Given the description of an element on the screen output the (x, y) to click on. 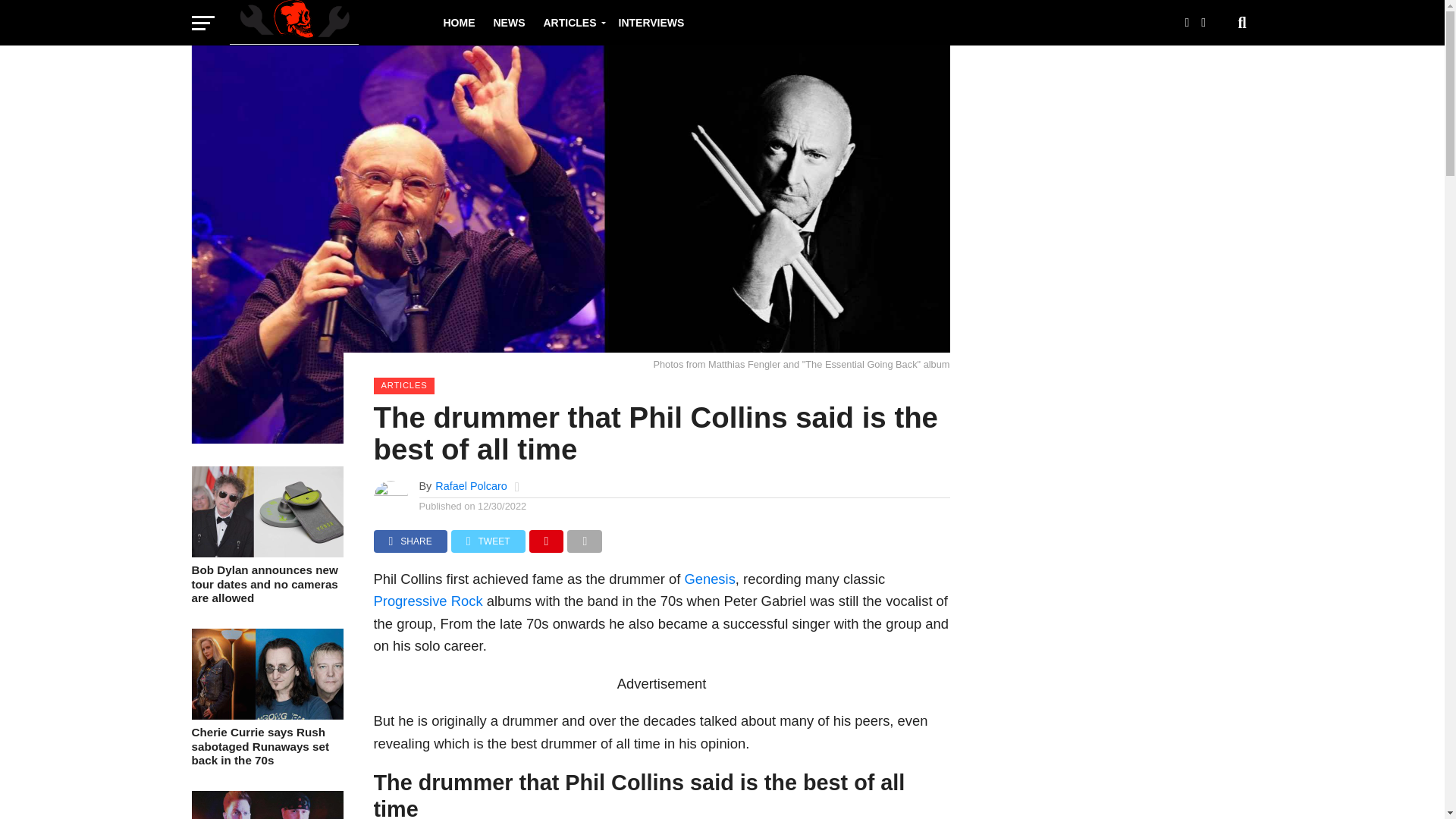
NEWS (508, 22)
Posts by Rafael Polcaro (470, 485)
INTERVIEWS (652, 22)
ARTICLES (571, 22)
HOME (458, 22)
